Given the description of an element on the screen output the (x, y) to click on. 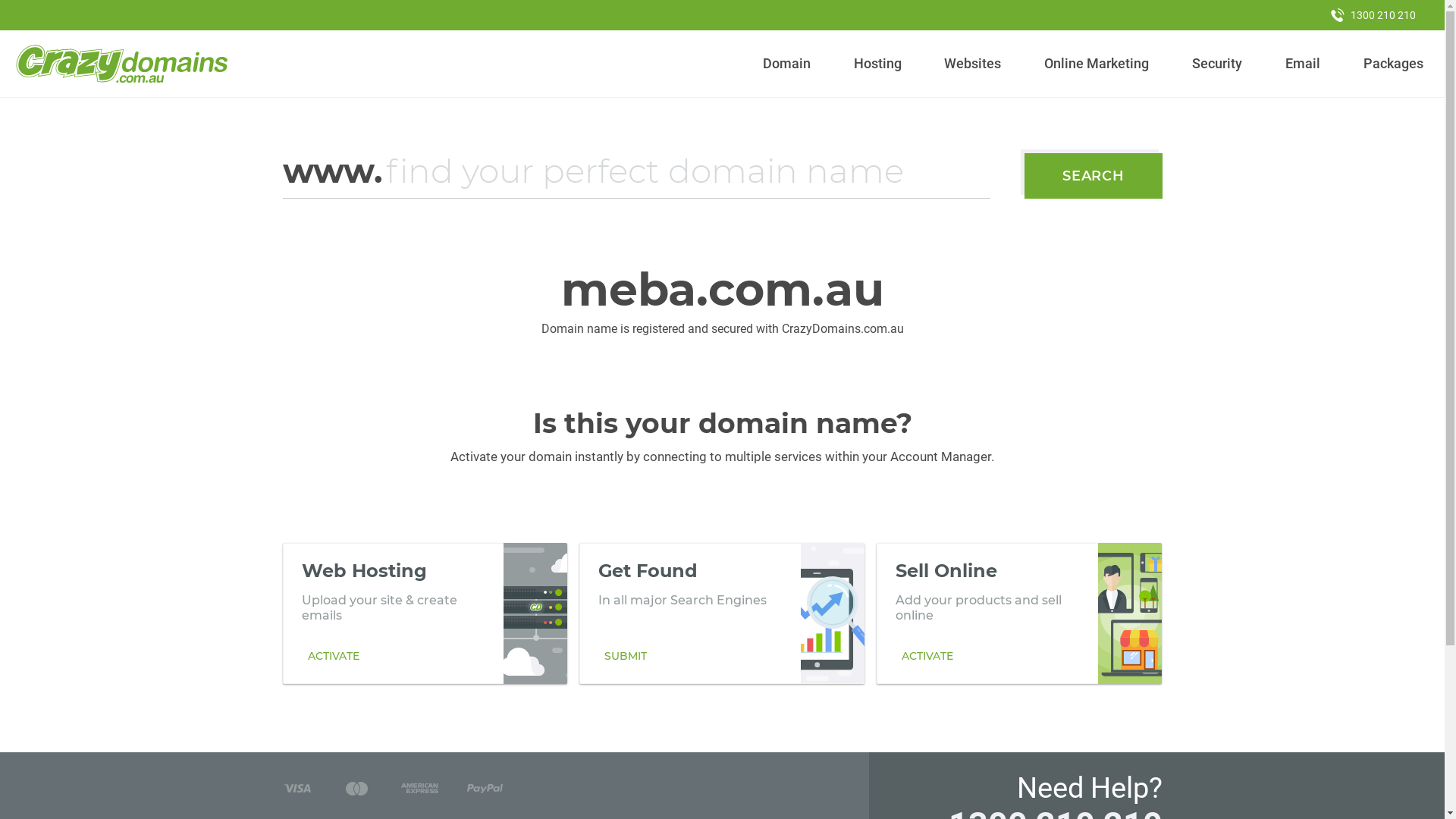
Hosting Element type: text (877, 63)
Get Found
In all major Search Engines
SUBMIT Element type: text (721, 613)
Security Element type: text (1217, 63)
Sell Online
Add your products and sell online
ACTIVATE Element type: text (1018, 613)
1300 210 210 Element type: text (1373, 15)
Domain Element type: text (786, 63)
Websites Element type: text (972, 63)
Email Element type: text (1302, 63)
Web Hosting
Upload your site & create emails
ACTIVATE Element type: text (424, 613)
Online Marketing Element type: text (1096, 63)
SEARCH Element type: text (1092, 175)
Packages Element type: text (1392, 63)
